Given the description of an element on the screen output the (x, y) to click on. 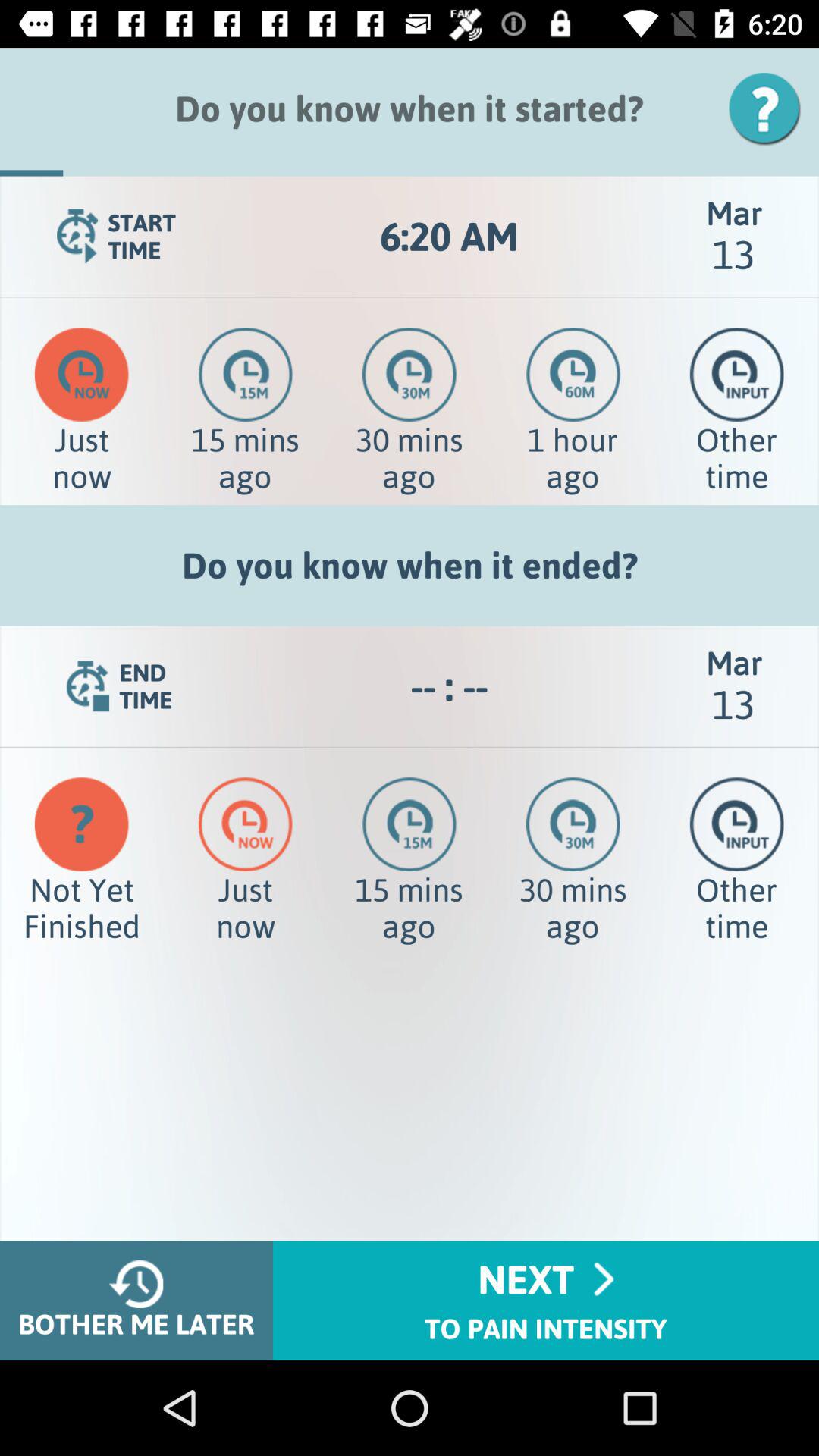
jump until the 6:20 am item (448, 236)
